Given the description of an element on the screen output the (x, y) to click on. 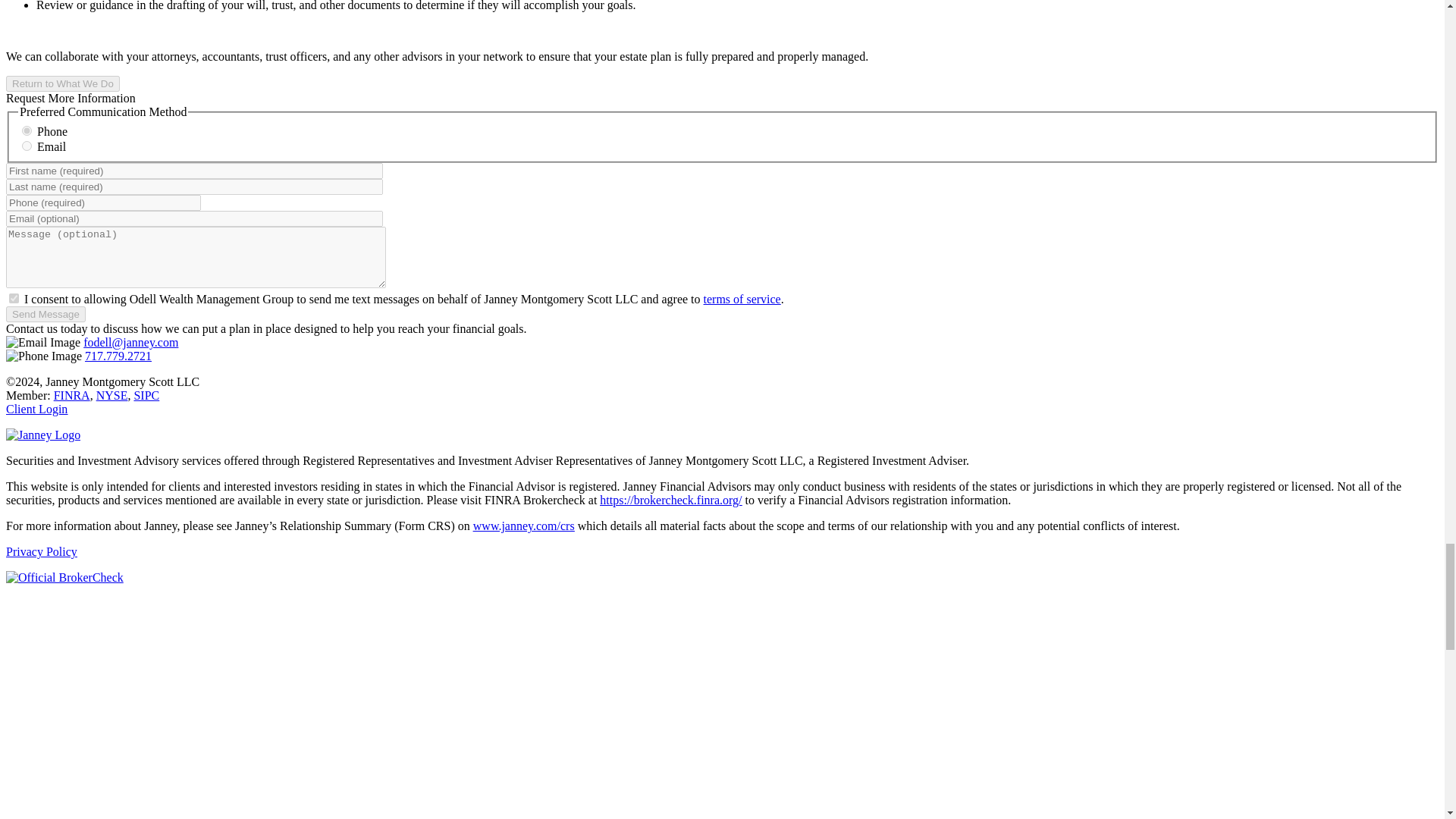
Return to What We Do (62, 83)
Return to What We Do (62, 82)
terms of service (741, 298)
FINRA (71, 395)
717.779.2721 (117, 355)
1 (13, 298)
Client Login (35, 408)
email-img (42, 342)
phone (26, 130)
janney-logo-img (42, 435)
Send Message (45, 314)
brokercheck-logo-img (64, 577)
phone-img (43, 356)
email (26, 145)
NYSE (112, 395)
